Given the description of an element on the screen output the (x, y) to click on. 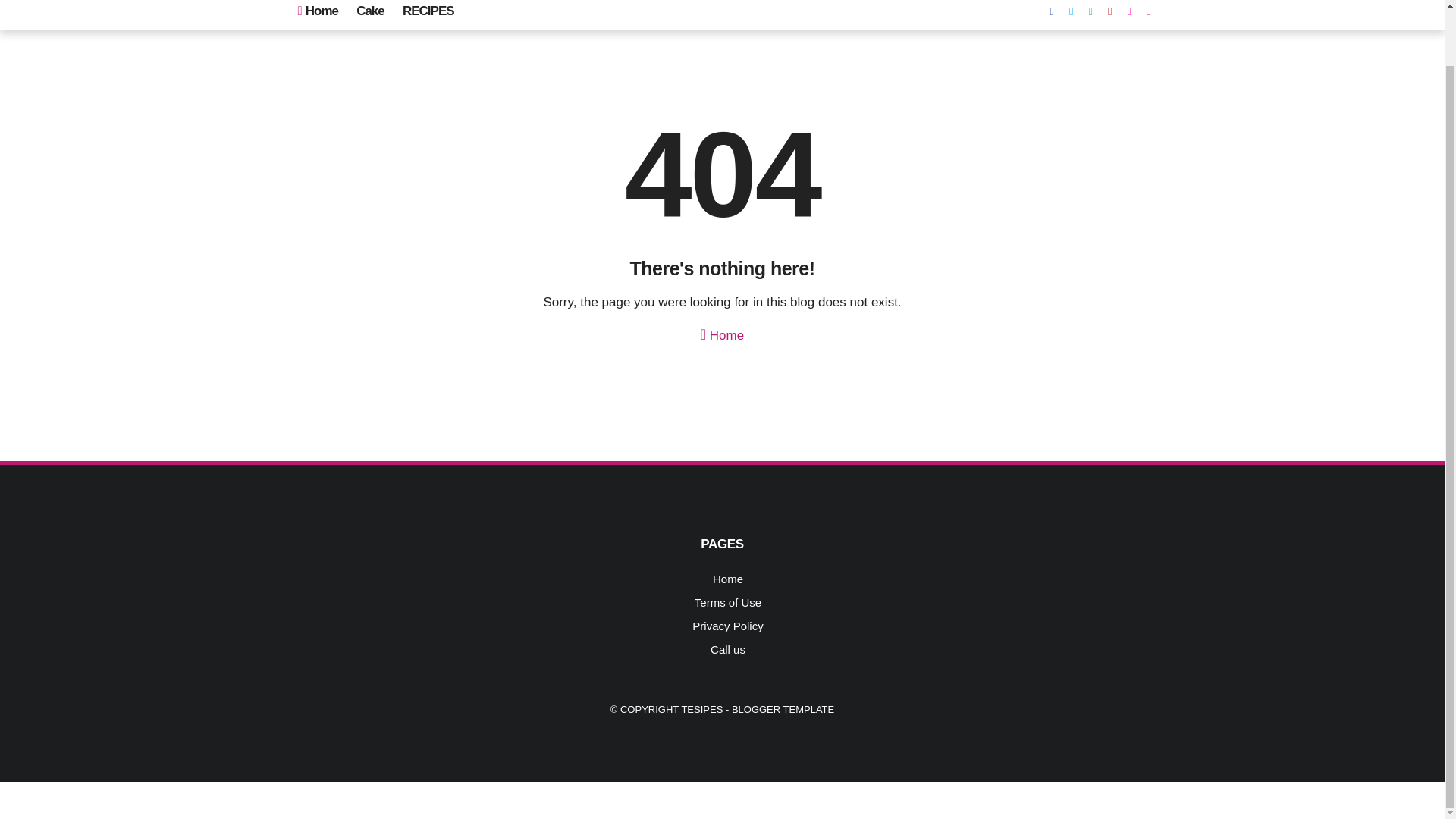
Cake (370, 15)
Home (317, 15)
Home (727, 578)
RECIPES (427, 15)
Home (721, 332)
